Given the description of an element on the screen output the (x, y) to click on. 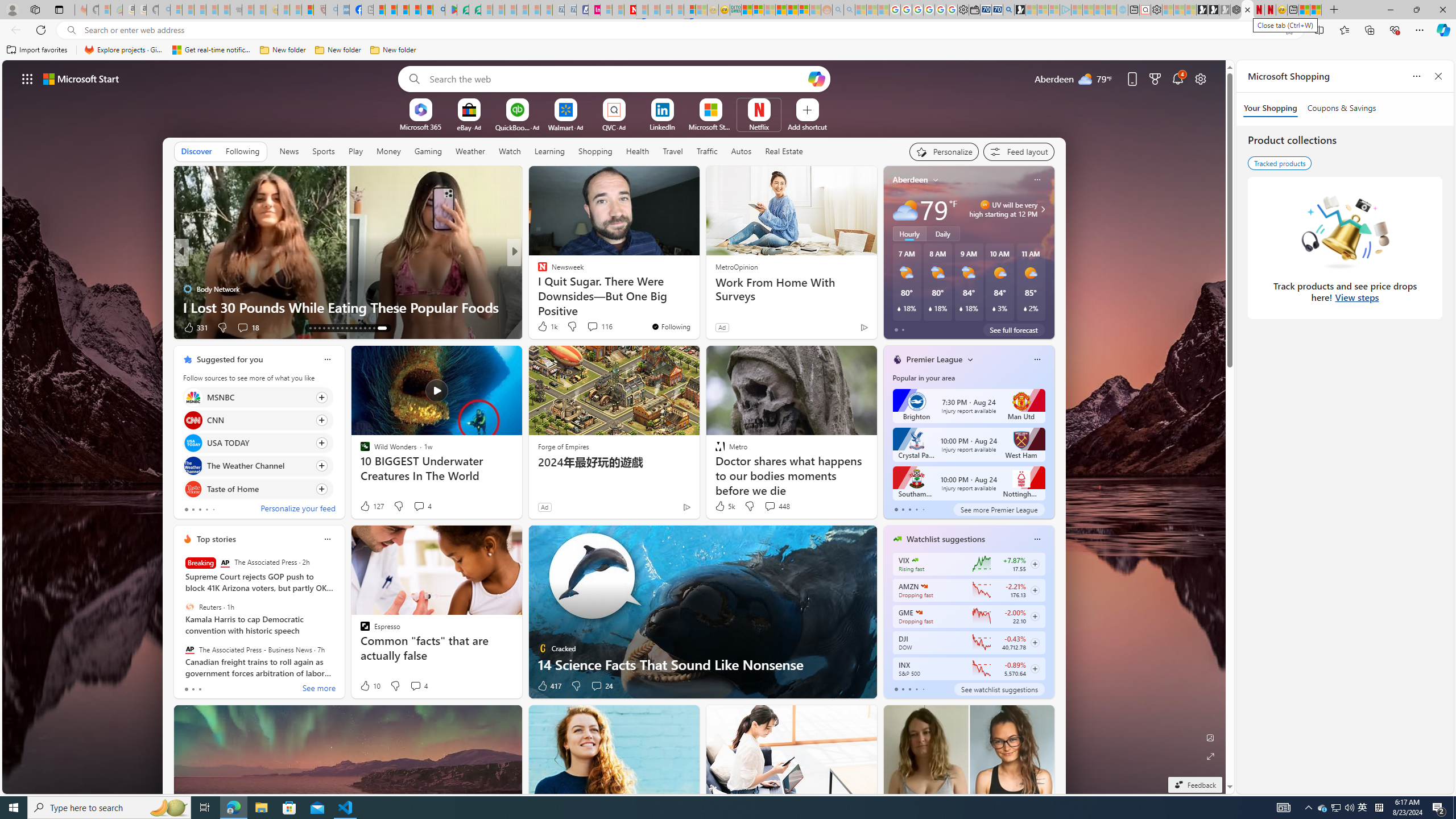
View comments 116 Comment (592, 326)
tab-3 (916, 689)
More interests (969, 359)
MetroOpinion (736, 266)
